Given the description of an element on the screen output the (x, y) to click on. 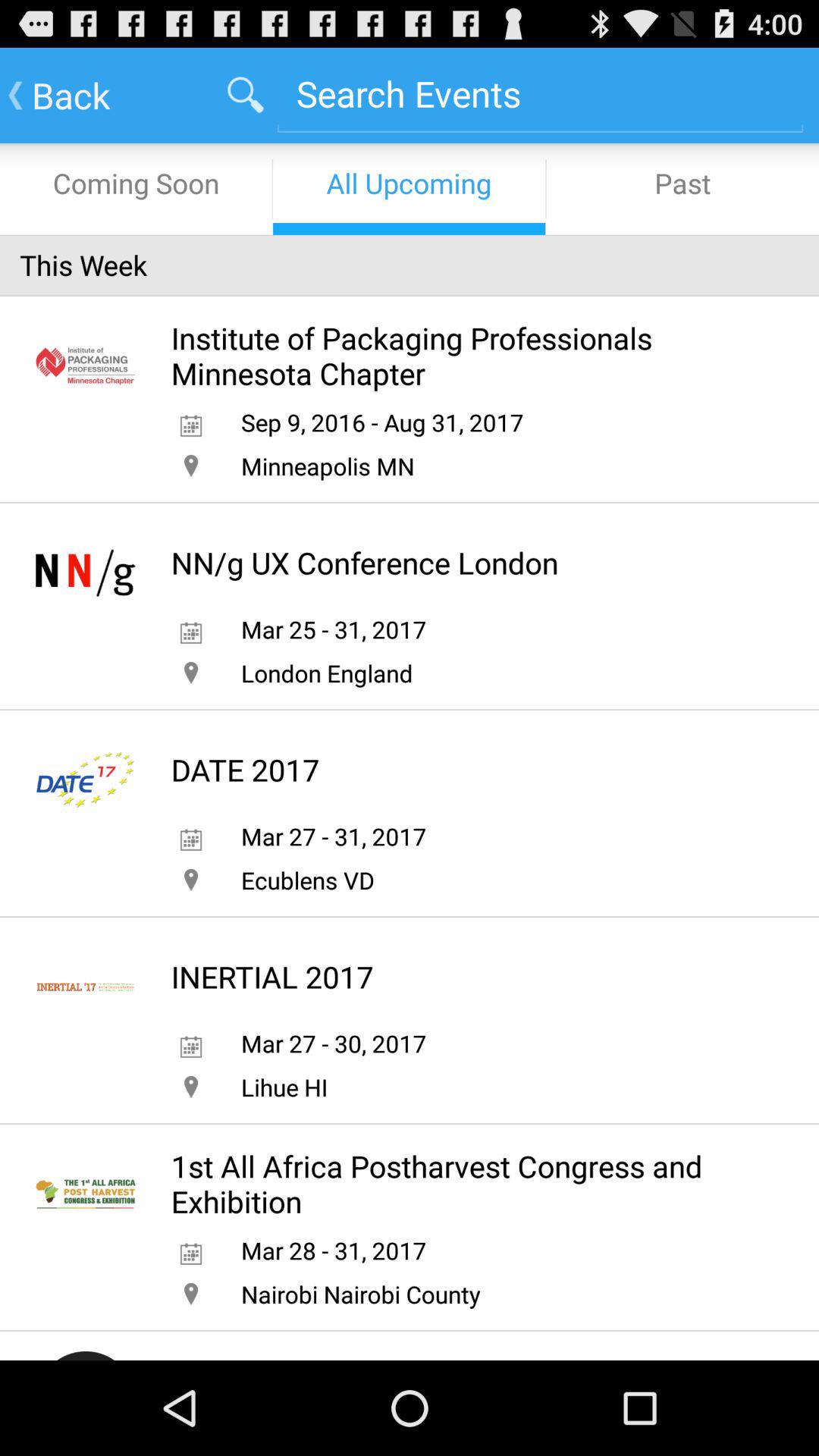
launch app above the minneapolis mn icon (382, 422)
